Given the description of an element on the screen output the (x, y) to click on. 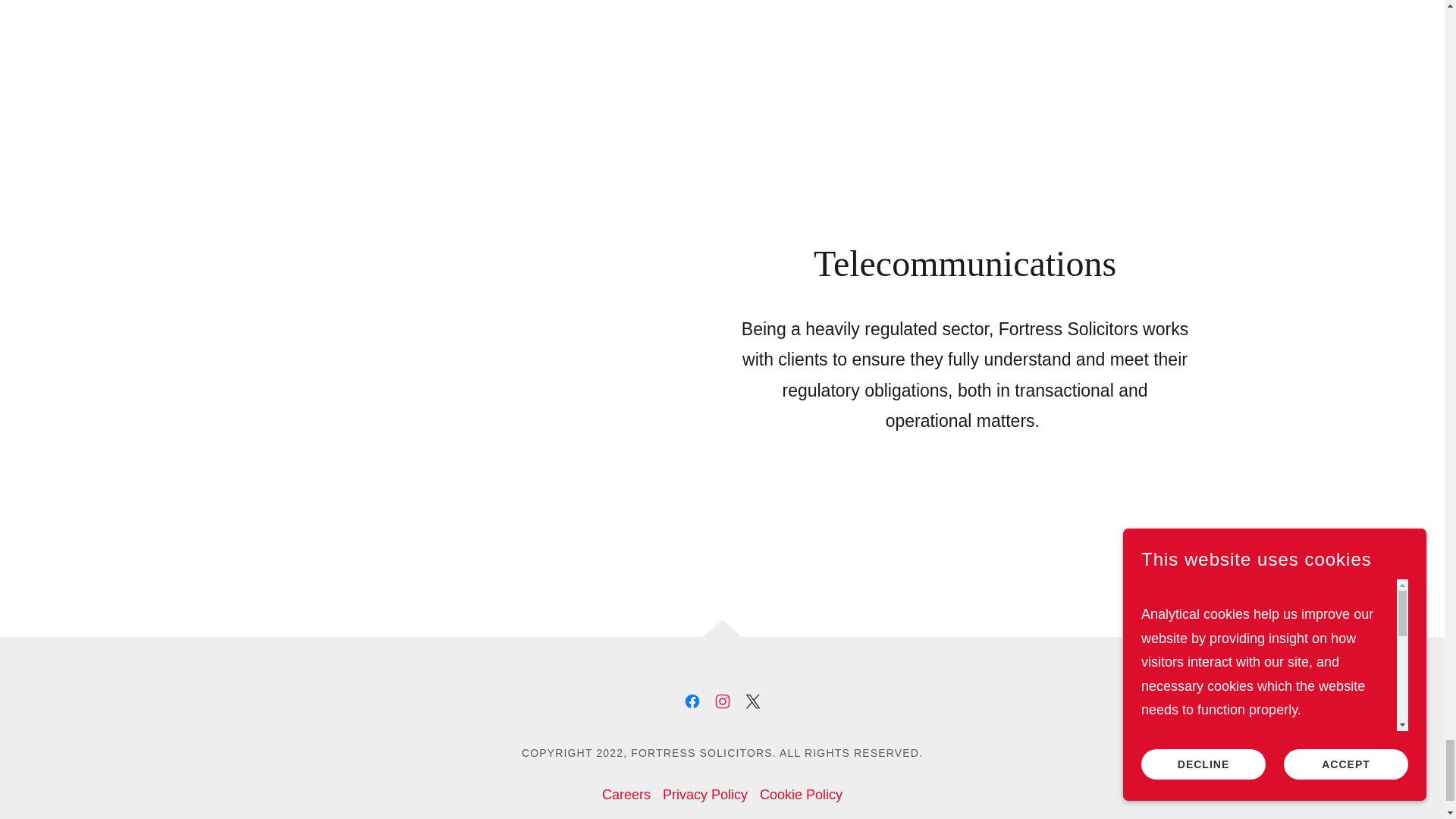
Careers (625, 794)
Cookie Policy (801, 794)
Privacy Policy (705, 794)
